Given the description of an element on the screen output the (x, y) to click on. 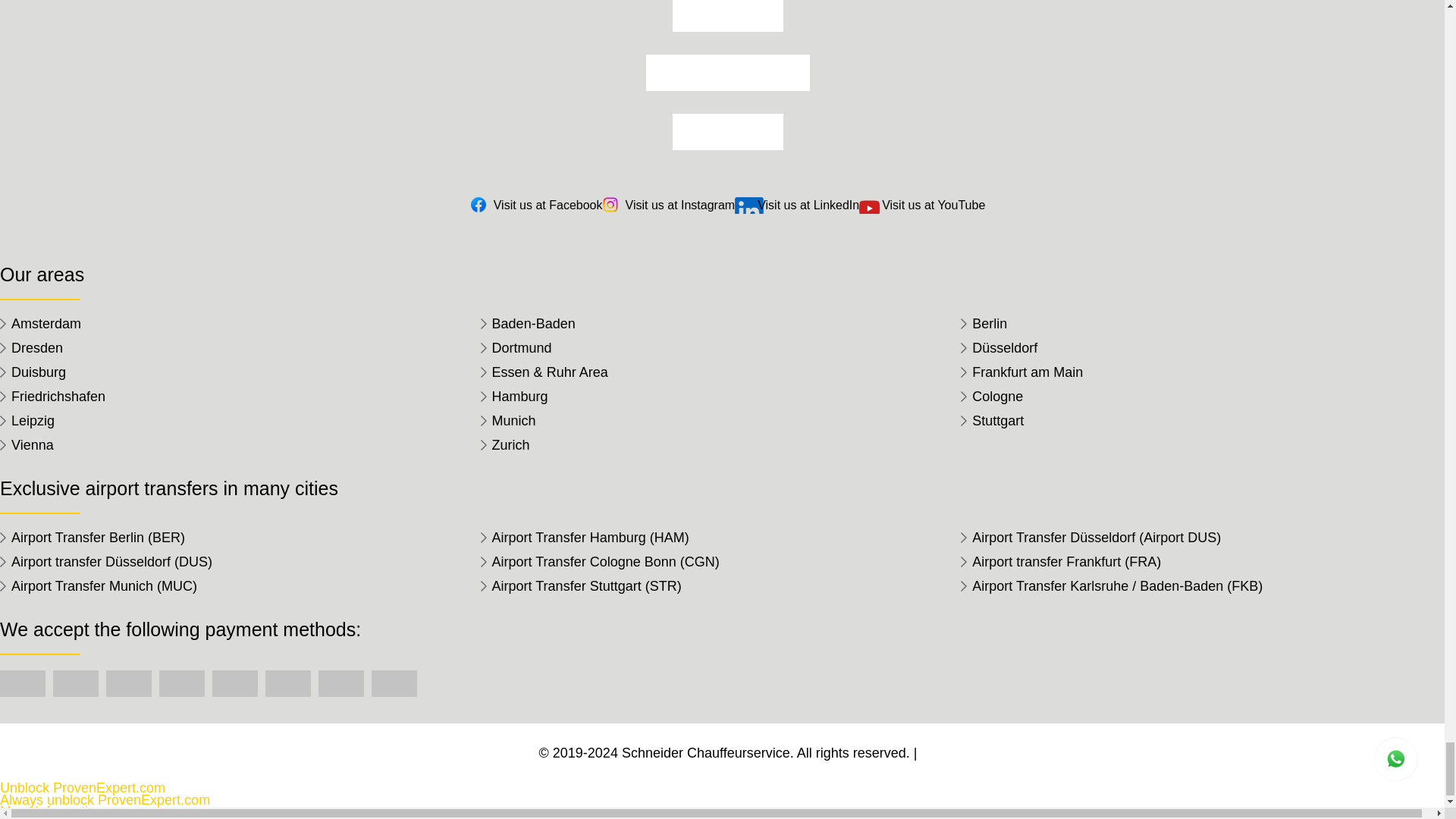
Chauffeur and Limousine Service in Baden-Baden (720, 323)
Chauffeur and Limousine Service in Berlin (1200, 323)
Chauffeur and Limousine Service in Amsterdam (240, 323)
